Given the description of an element on the screen output the (x, y) to click on. 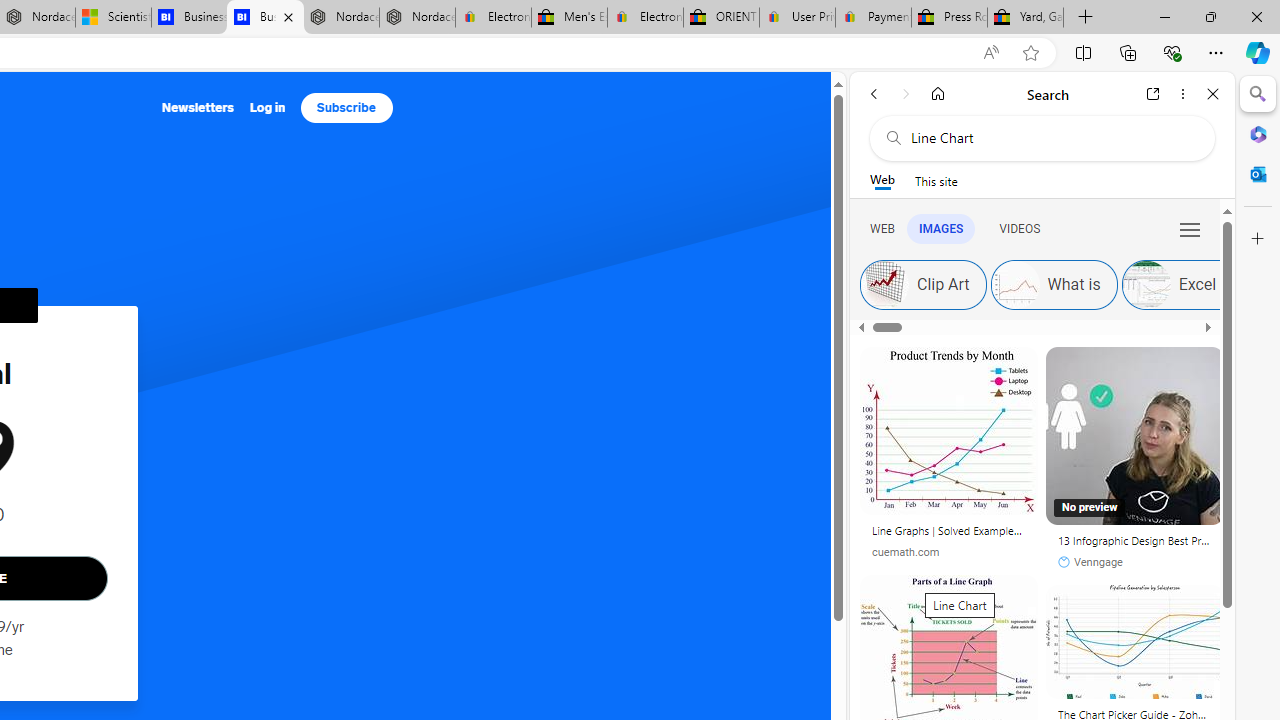
Clip Art (923, 284)
17:36 (1081, 366)
Payments Terms of Use | eBay.com (873, 17)
Venngage (1090, 561)
This site scope (936, 180)
Log in (267, 107)
Class: b_serphb (1190, 229)
13 Infographic Design Best Practices - Venngage (1134, 435)
Line Graphs | Solved Examples | Data- Cuemath (948, 530)
